Given the description of an element on the screen output the (x, y) to click on. 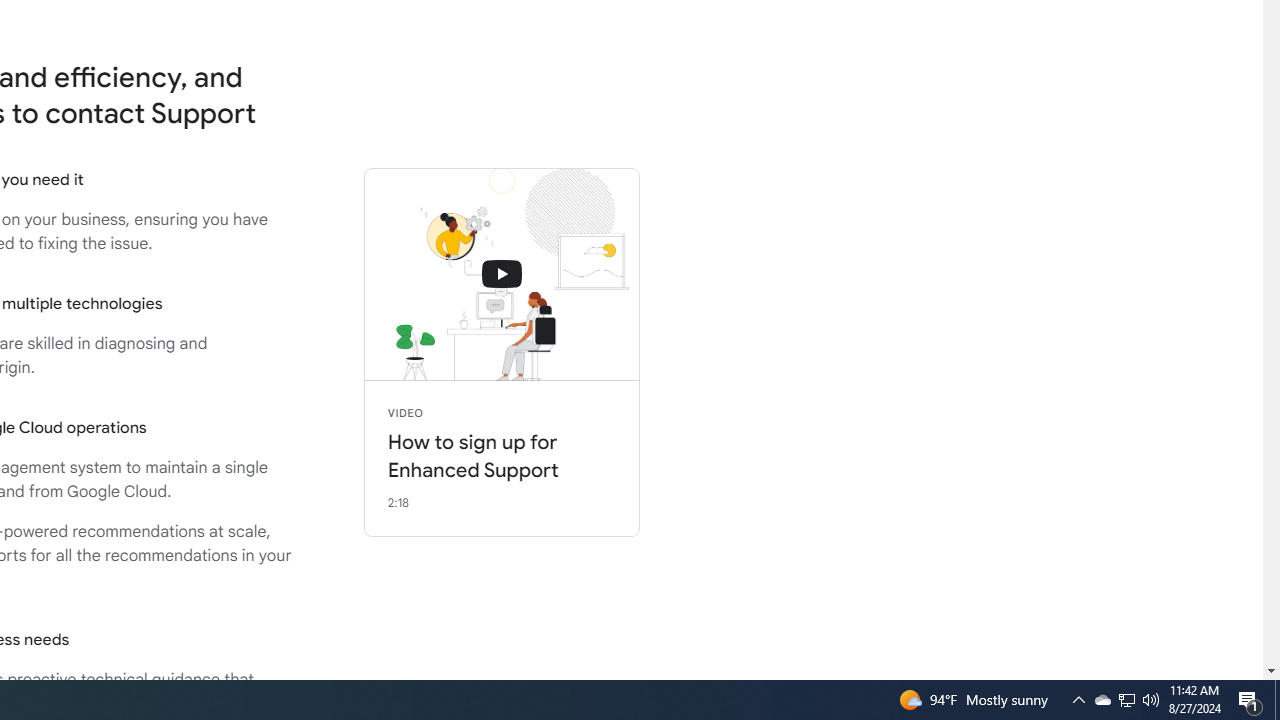
connecting with support (501, 273)
